Given the description of an element on the screen output the (x, y) to click on. 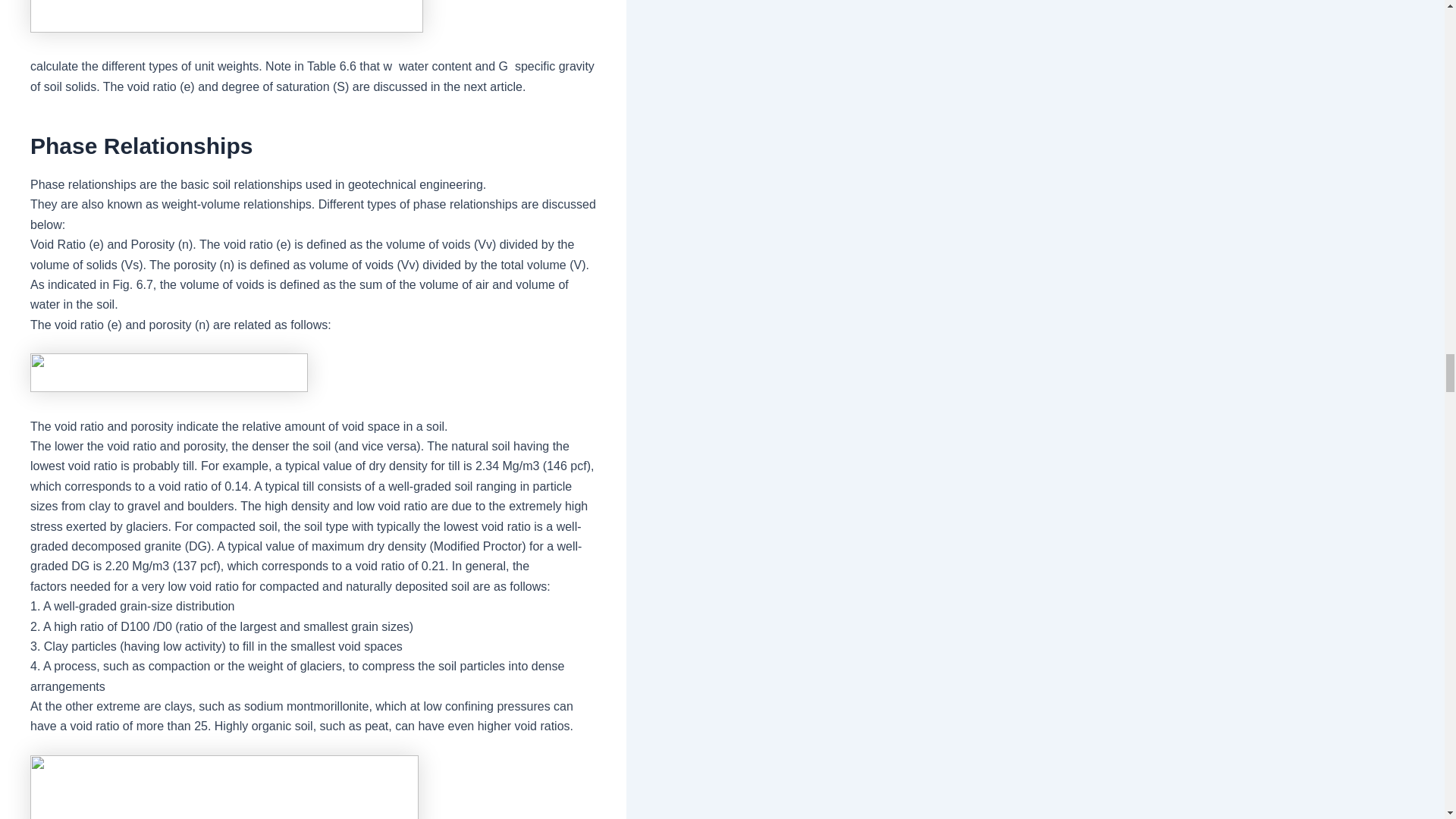
eq 6.5 (168, 372)
TABLE 6.6 Unit Weight Relationships (226, 16)
eq 6.6 (224, 787)
